Given the description of an element on the screen output the (x, y) to click on. 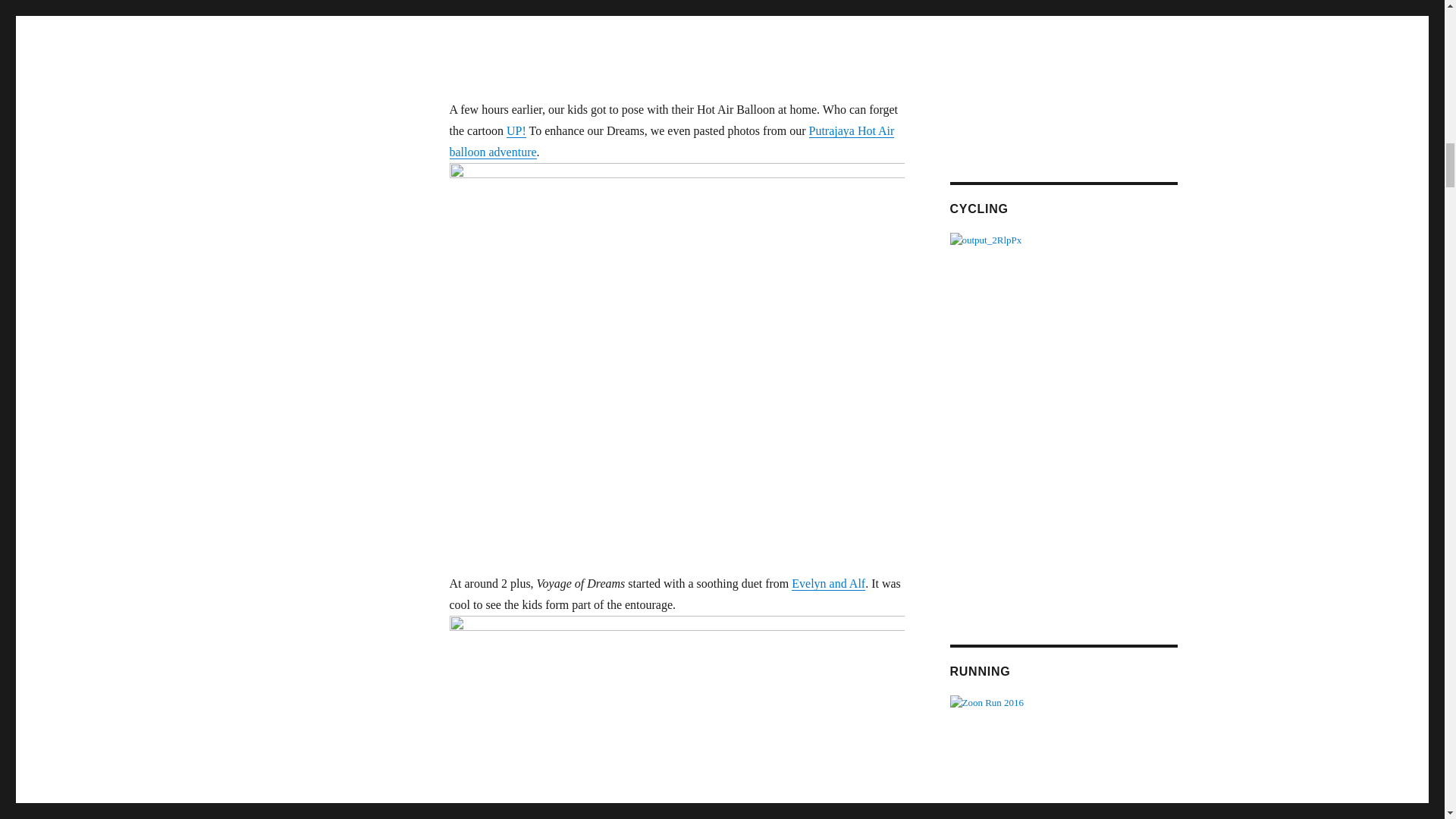
UP! (515, 130)
Evelyn and Alf (828, 583)
voyage of dreams (676, 717)
Putrajaya Hot Air balloon adventure (670, 141)
